Given the description of an element on the screen output the (x, y) to click on. 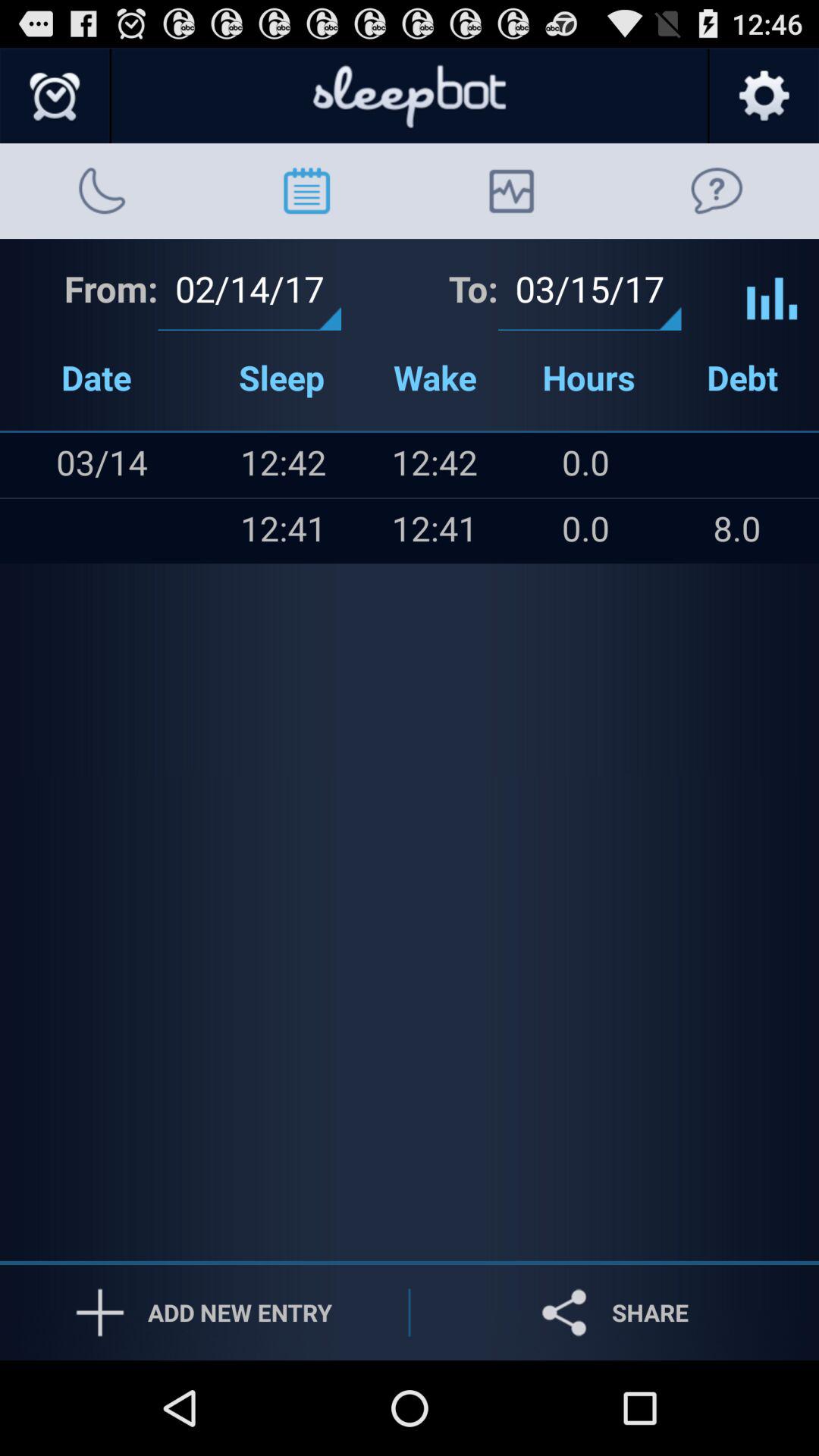
add alarm (55, 96)
